Given the description of an element on the screen output the (x, y) to click on. 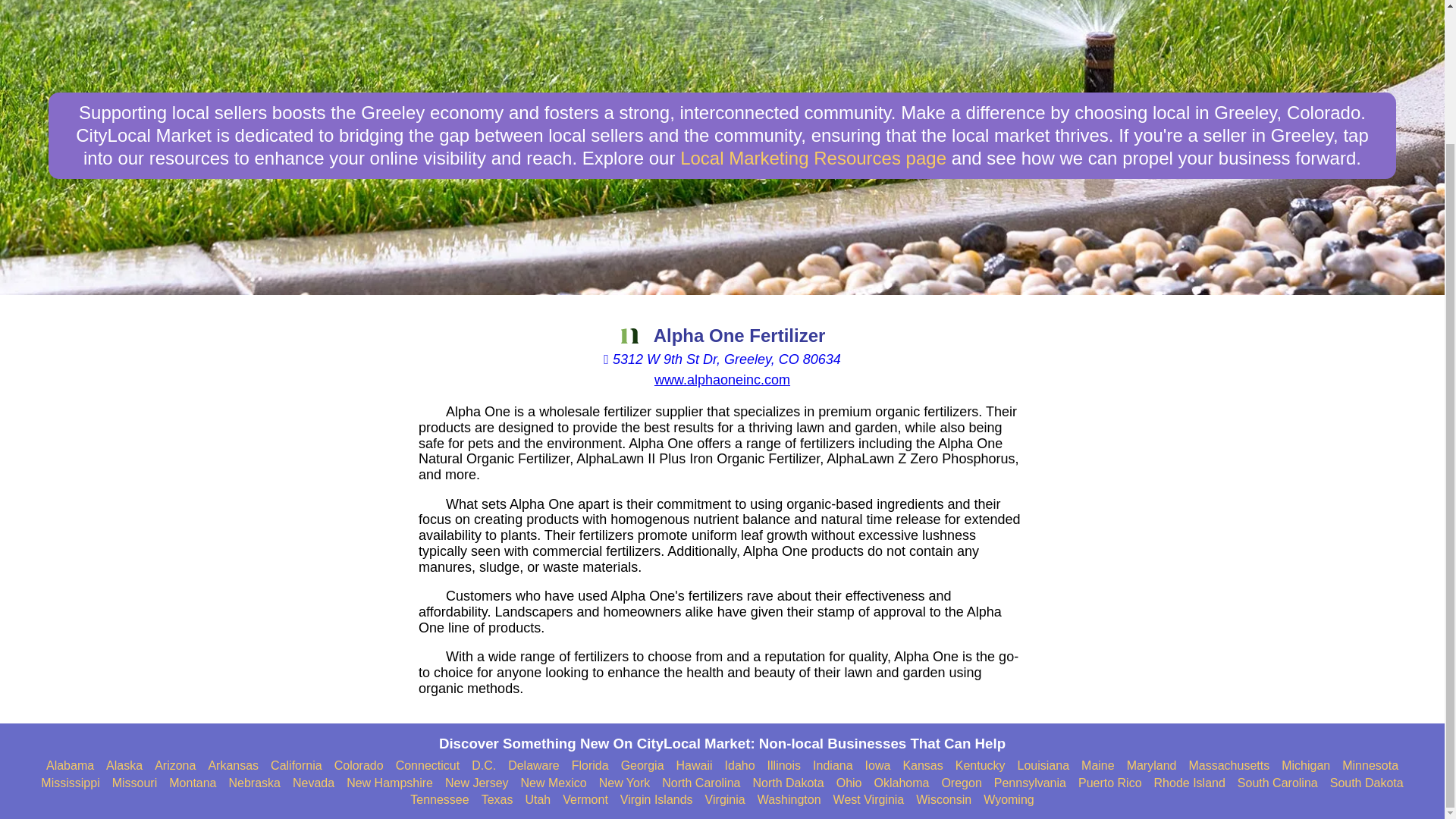
Alabama (70, 766)
Arizona (174, 766)
Missouri (134, 783)
Maryland (1151, 766)
Indiana (832, 766)
Kentucky (980, 766)
California (295, 766)
Local Marketing Resources page (812, 158)
Connecticut (428, 766)
Maine (1098, 766)
Find Businesses in Idaho (740, 766)
Find Businesses in Colorado (359, 766)
Massachusetts (1228, 766)
Michigan (1305, 766)
Louisiana (1043, 766)
